Given the description of an element on the screen output the (x, y) to click on. 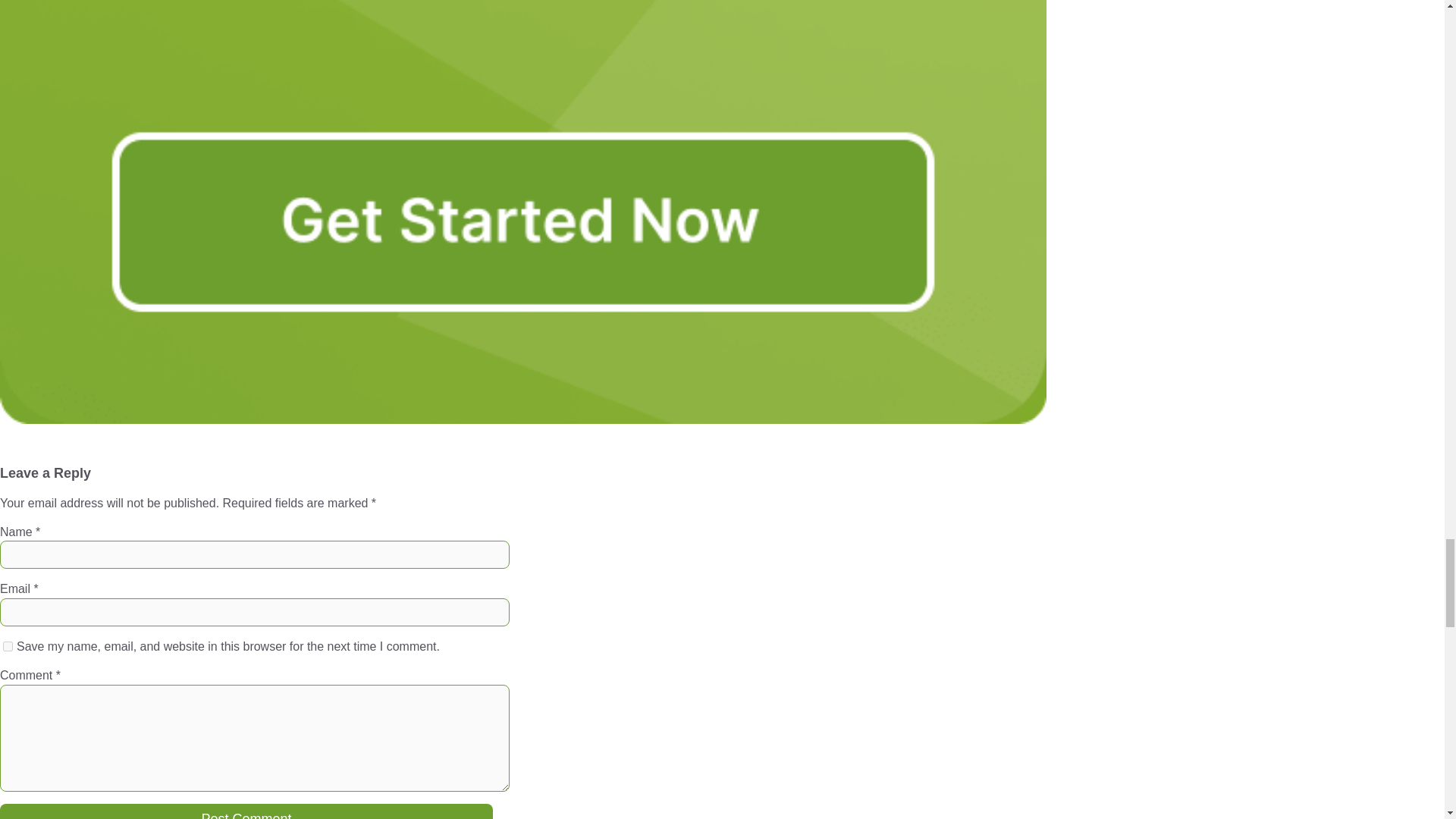
yes (7, 646)
Post Comment (246, 811)
Post Comment (246, 811)
